Given the description of an element on the screen output the (x, y) to click on. 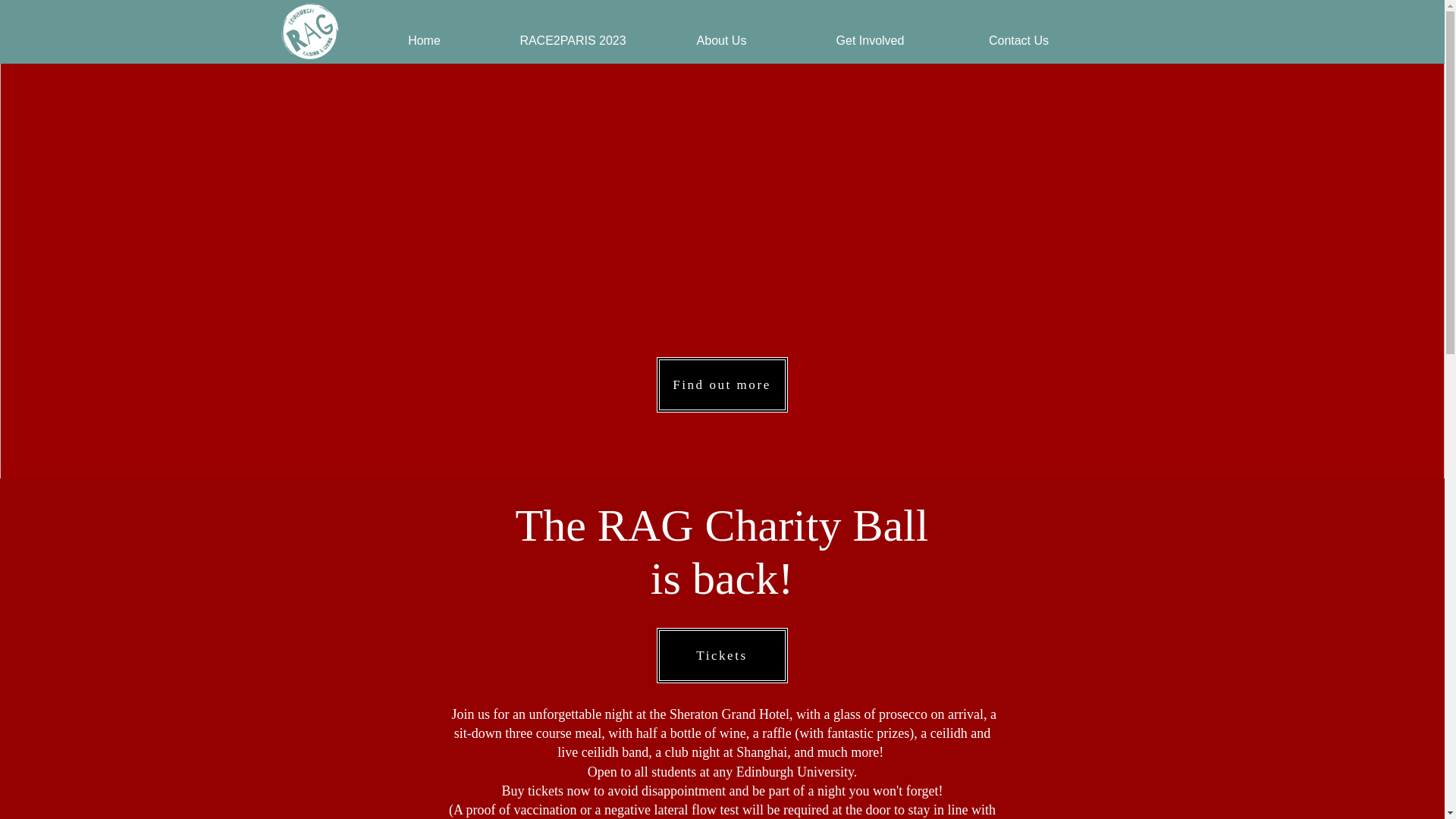
RACE2PARIS 2023 (573, 40)
Home (424, 40)
Contact Us (1018, 40)
Tickets (721, 655)
About Us (721, 40)
Find out more (721, 384)
Get Involved (870, 40)
